Given the description of an element on the screen output the (x, y) to click on. 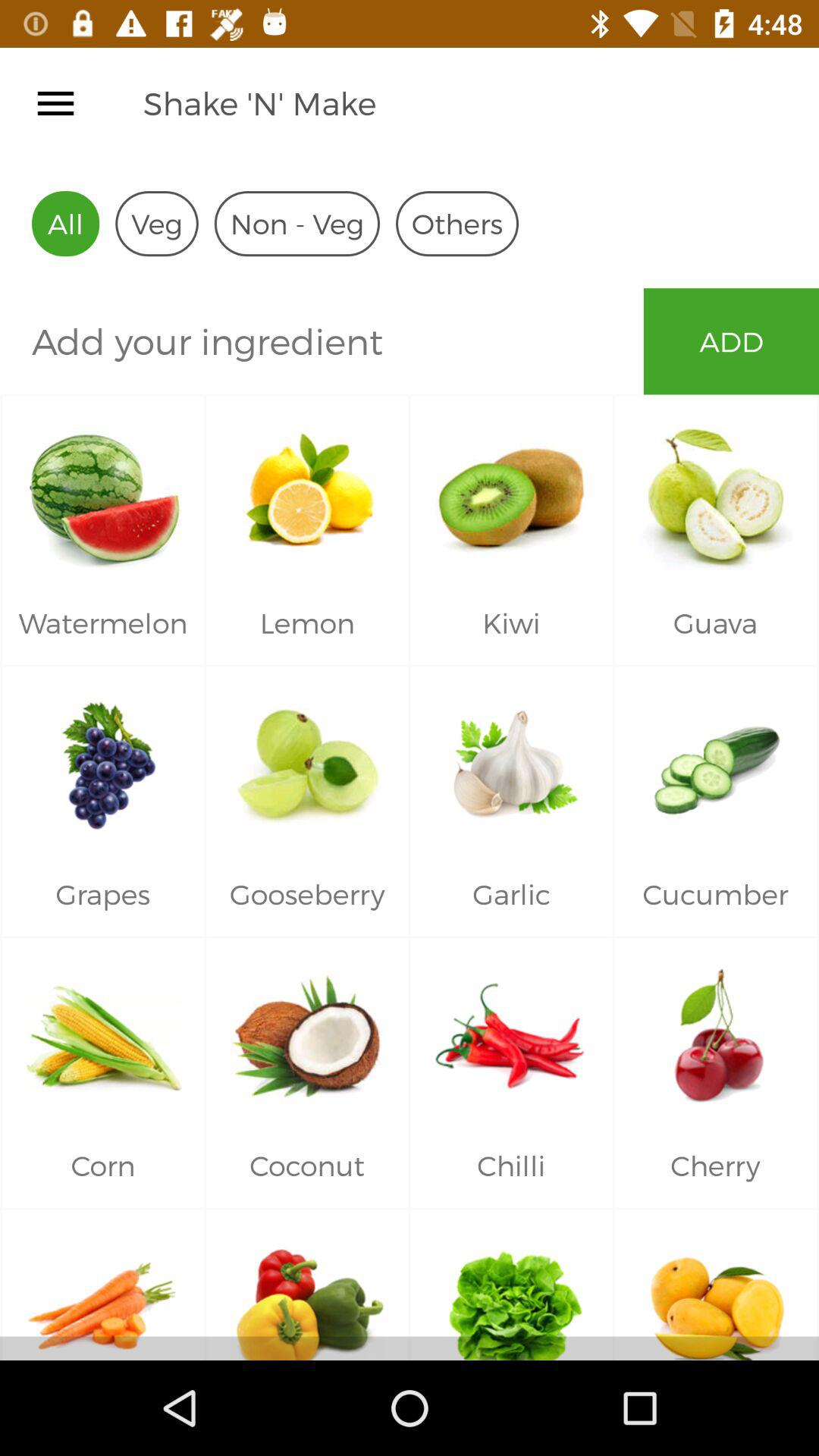
select icon below all (321, 341)
